Given the description of an element on the screen output the (x, y) to click on. 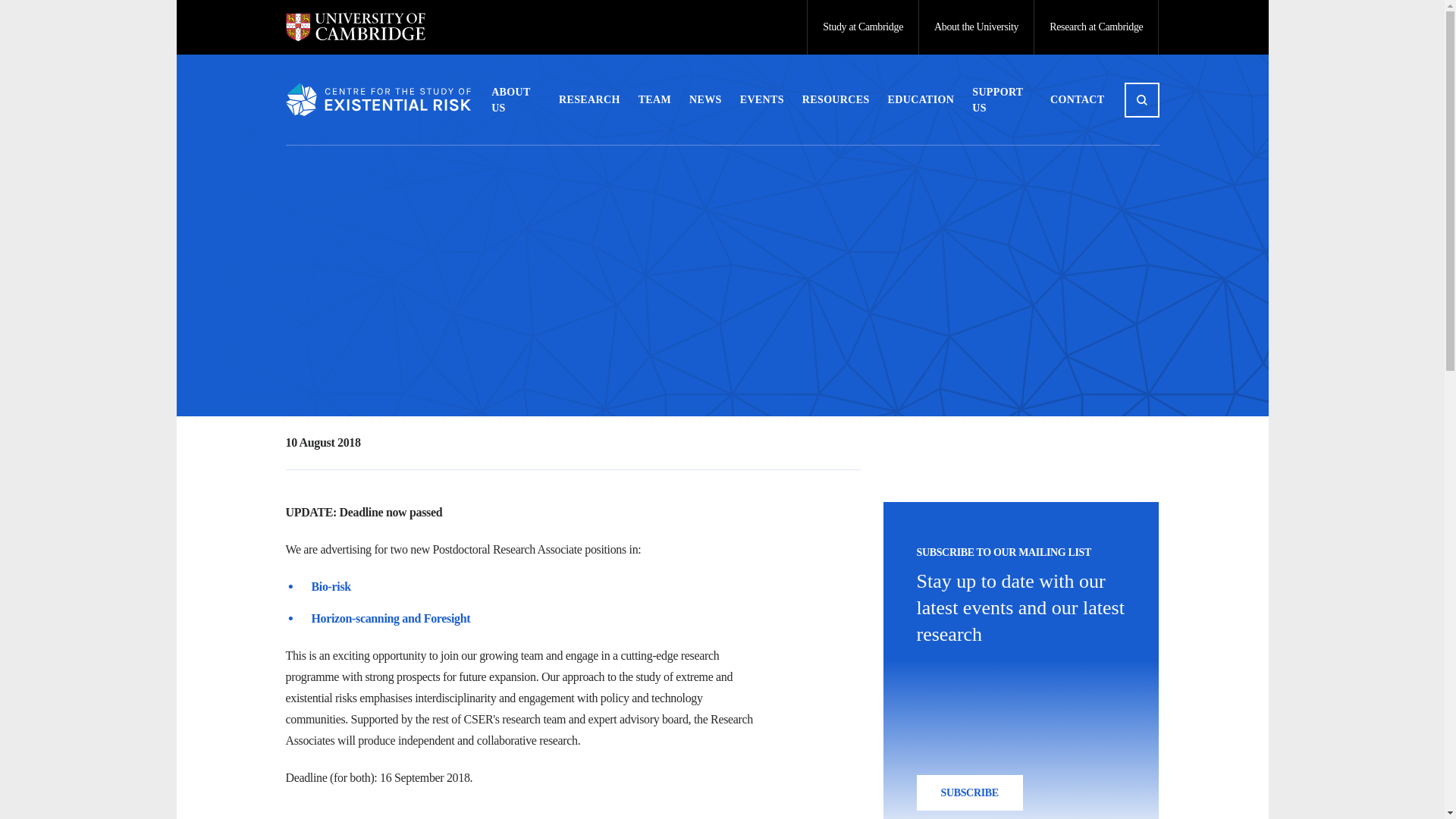
Research at Cambridge (1095, 27)
Horizon-scanning and Foresight (390, 617)
Study at Cambridge (862, 27)
About the University (975, 27)
Bio-risk (330, 585)
